Given the description of an element on the screen output the (x, y) to click on. 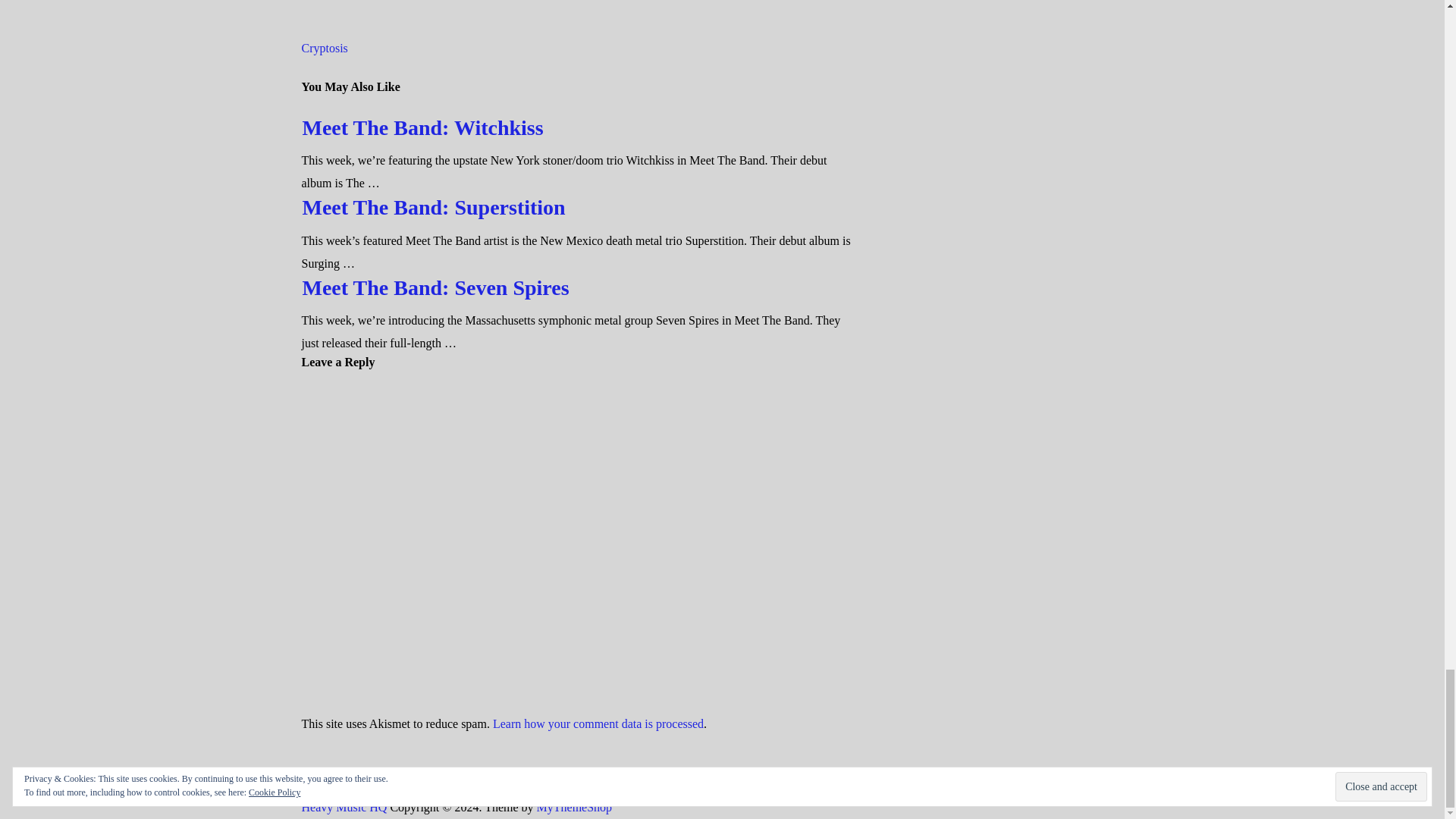
Cryptosis (324, 47)
Meet The Band: Witchkiss (422, 127)
Share (400, 0)
Meet The Band: Superstition (432, 207)
Share (315, 0)
Meet The Band: Witchkiss (422, 127)
Meet The Band: Superstition (432, 207)
Tweet (348, 0)
Meet The Band: Seven Spires (435, 287)
